Given the description of an element on the screen output the (x, y) to click on. 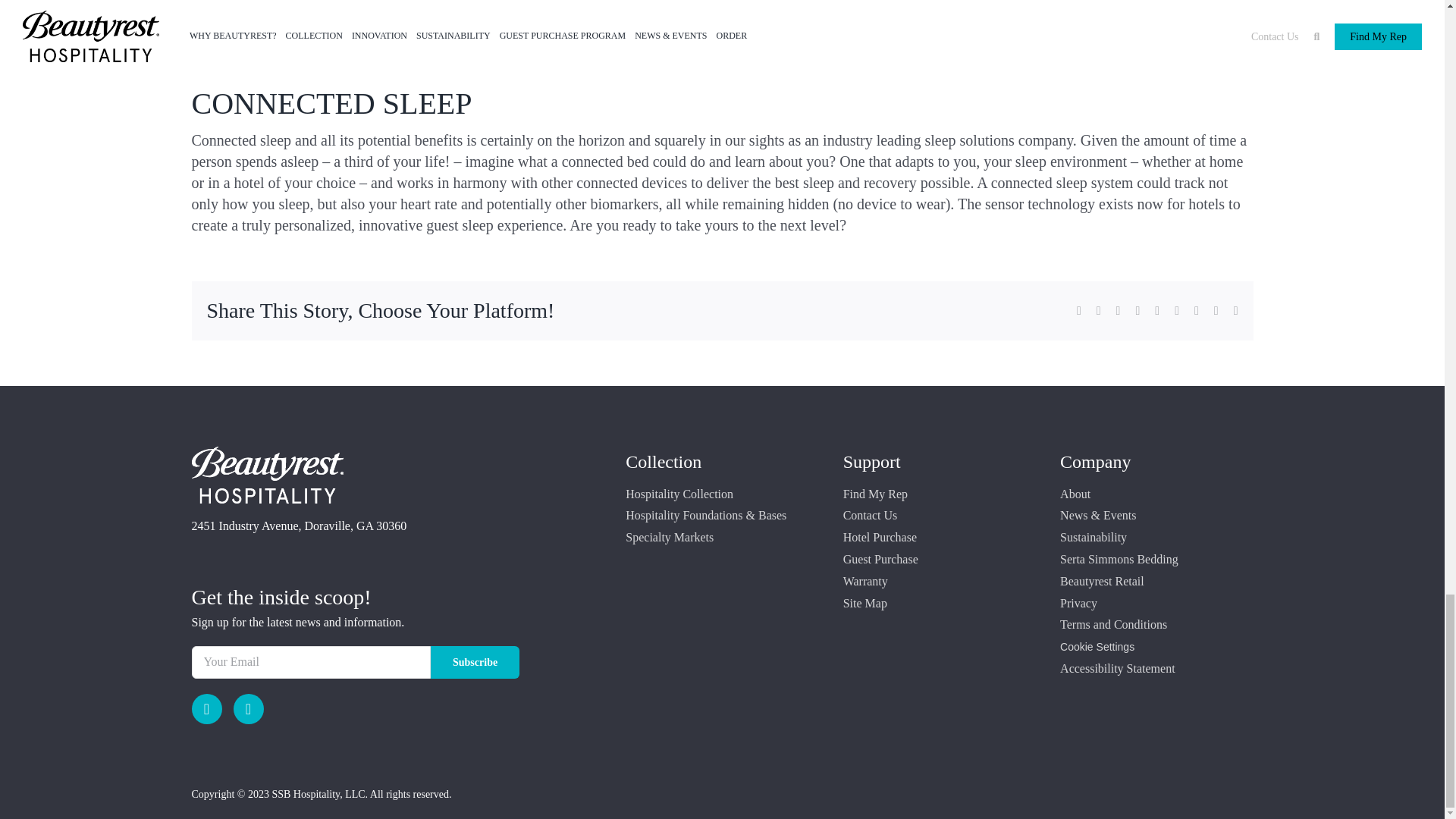
Hospitality Collection (722, 495)
Subscribe (474, 662)
Subscribe (474, 662)
Collection (663, 462)
